Given the description of an element on the screen output the (x, y) to click on. 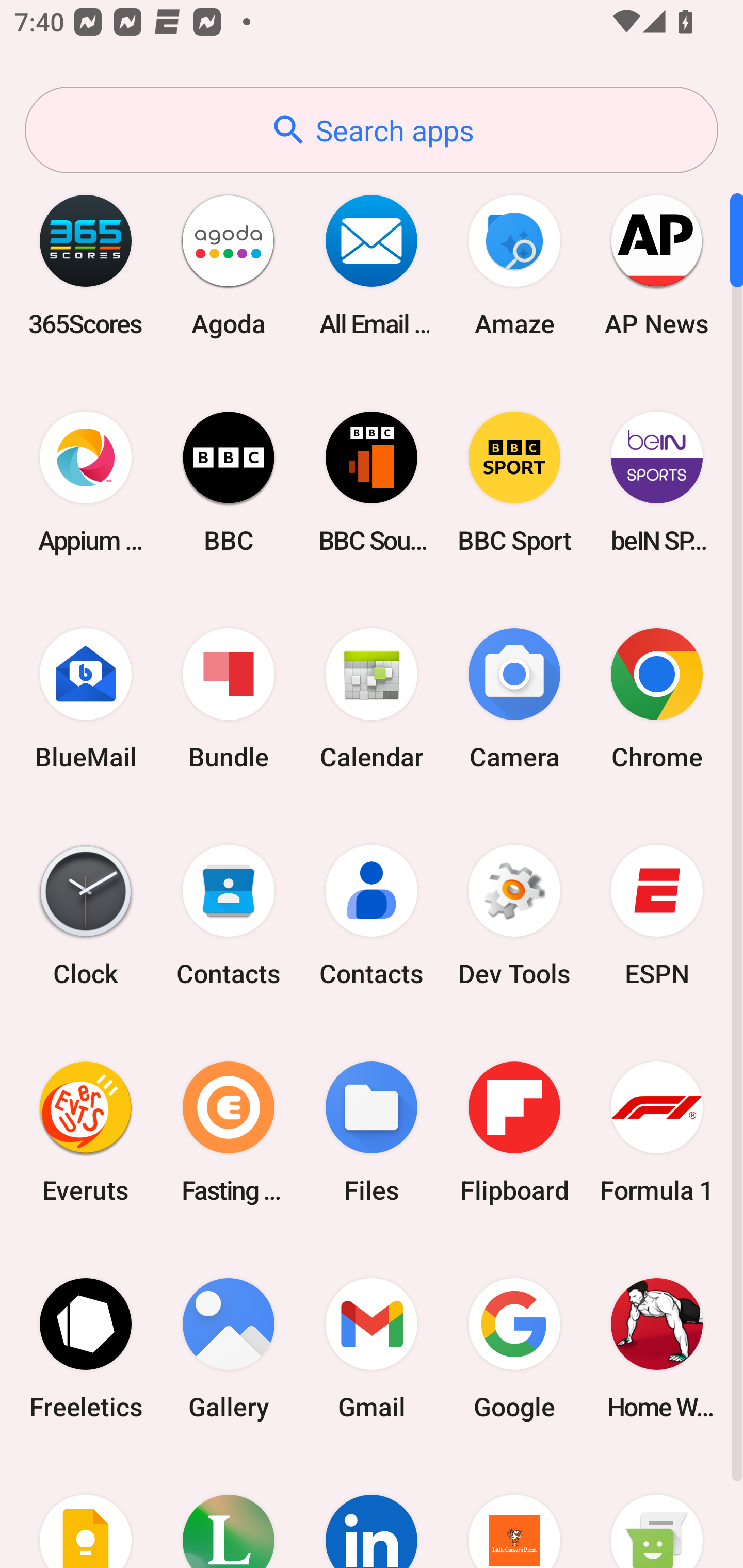
  Search apps (371, 130)
365Scores (85, 264)
Agoda (228, 264)
All Email Connect (371, 264)
Amaze (514, 264)
AP News (656, 264)
Appium Settings (85, 482)
BBC (228, 482)
BBC Sounds (371, 482)
BBC Sport (514, 482)
beIN SPORTS (656, 482)
BlueMail (85, 699)
Bundle (228, 699)
Calendar (371, 699)
Camera (514, 699)
Chrome (656, 699)
Clock (85, 915)
Contacts (228, 915)
Contacts (371, 915)
Dev Tools (514, 915)
ESPN (656, 915)
Everuts (85, 1131)
Fasting Coach (228, 1131)
Files (371, 1131)
Flipboard (514, 1131)
Formula 1 (656, 1131)
Freeletics (85, 1348)
Gallery (228, 1348)
Gmail (371, 1348)
Google (514, 1348)
Home Workout (656, 1348)
Keep Notes (85, 1512)
Lifesum (228, 1512)
LinkedIn (371, 1512)
Little Caesars Pizza (514, 1512)
Messaging (656, 1512)
